Given the description of an element on the screen output the (x, y) to click on. 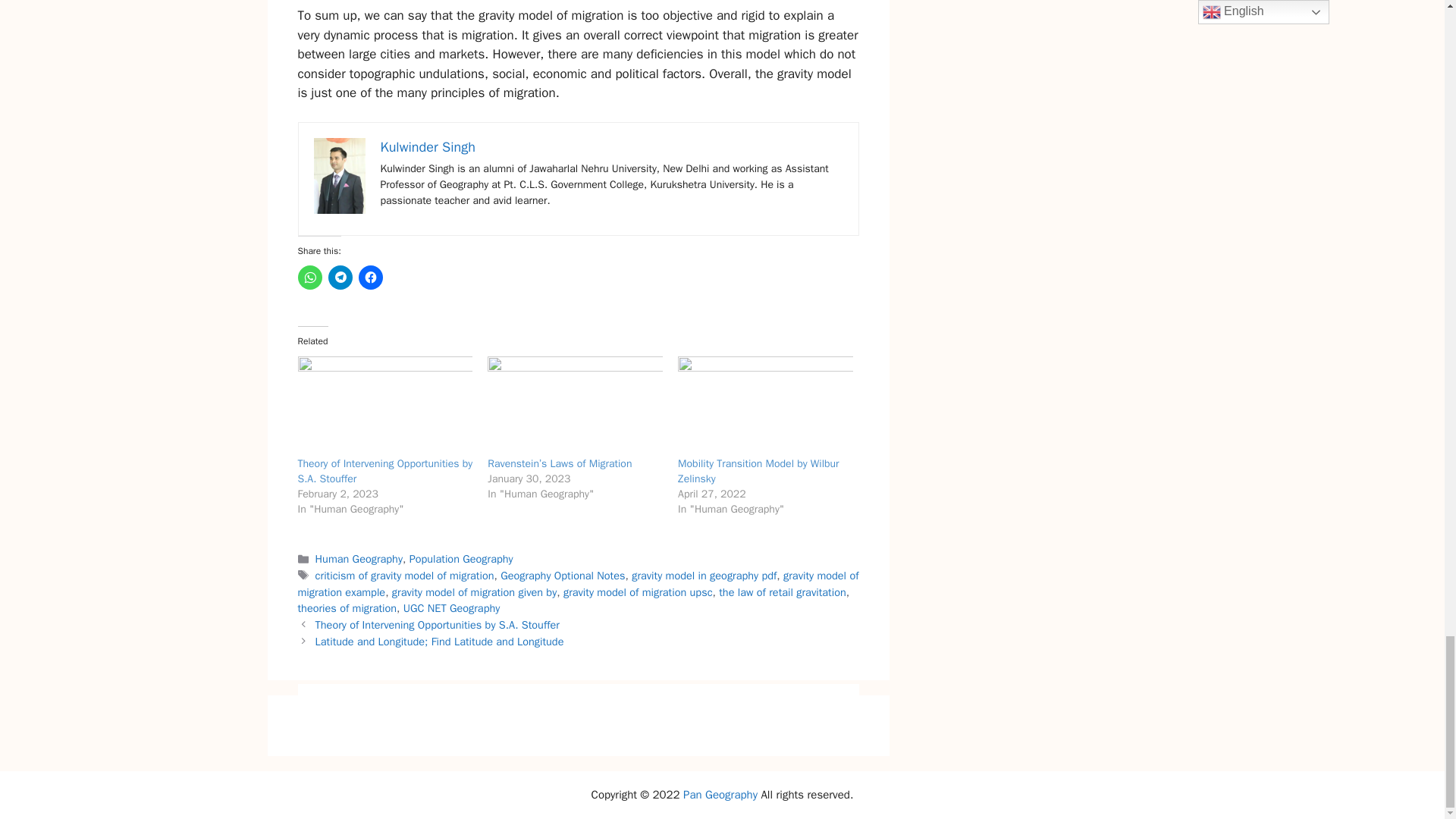
Click to share on Telegram (339, 277)
Mobility Transition Model by Wilbur Zelinsky (765, 406)
Click to share on Facebook (369, 277)
Theory of Intervening Opportunities by S.A. Stouffer (384, 471)
Theory of Intervening Opportunities by S.A. Stouffer (384, 406)
Click to share on WhatsApp (309, 277)
Kulwinder Singh (428, 146)
